Given the description of an element on the screen output the (x, y) to click on. 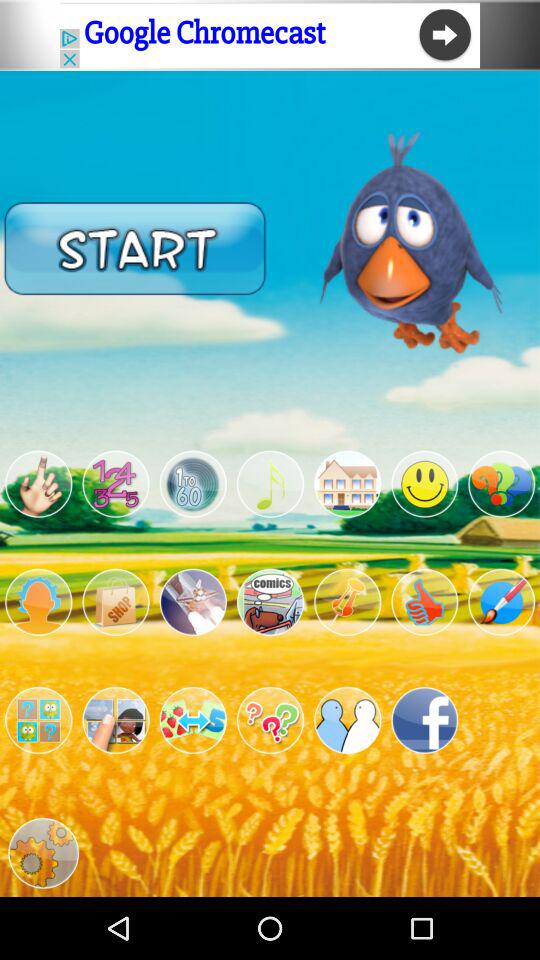
paint with brush (501, 602)
